Given the description of an element on the screen output the (x, y) to click on. 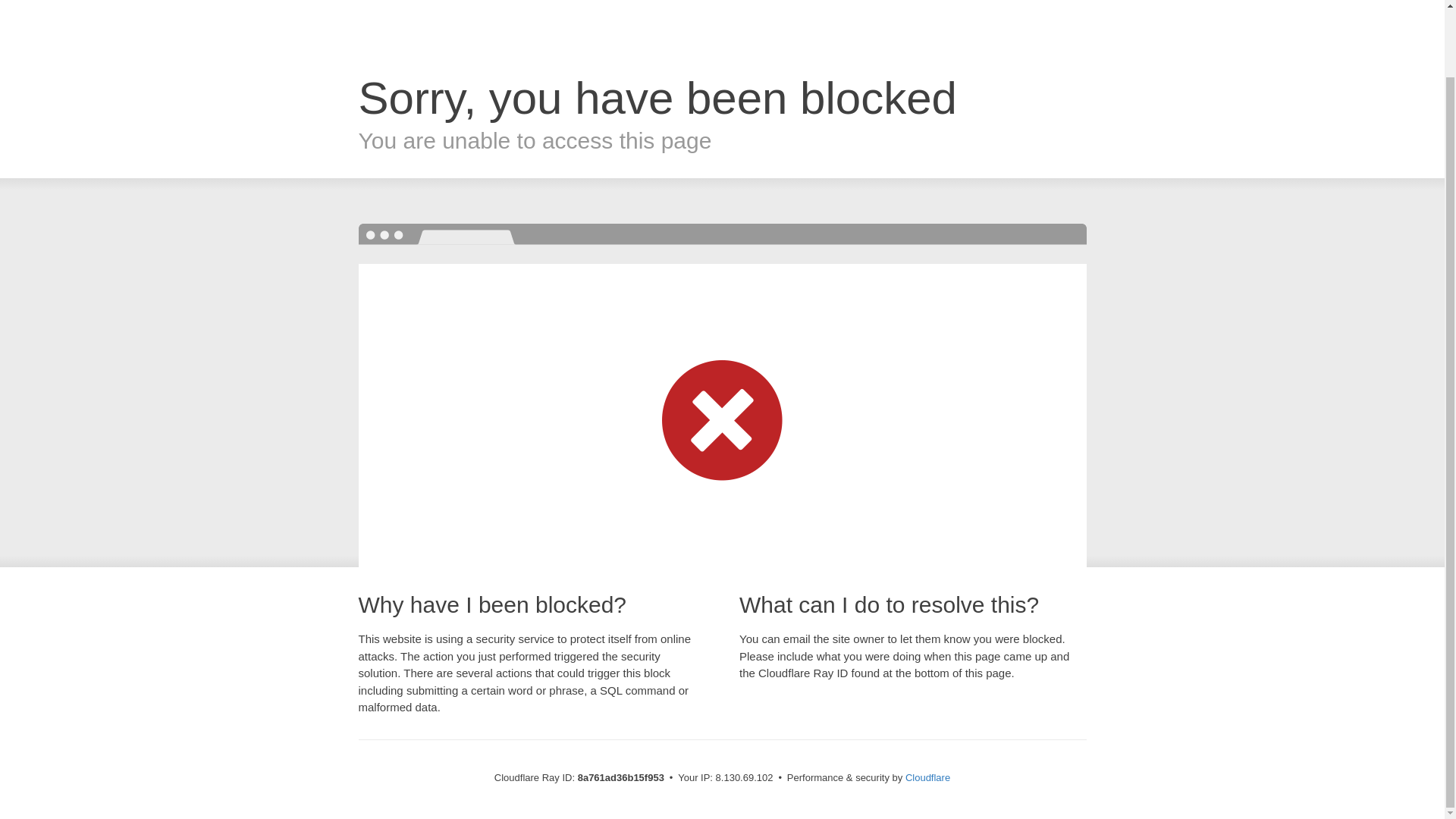
Cloudflare (927, 777)
